Given the description of an element on the screen output the (x, y) to click on. 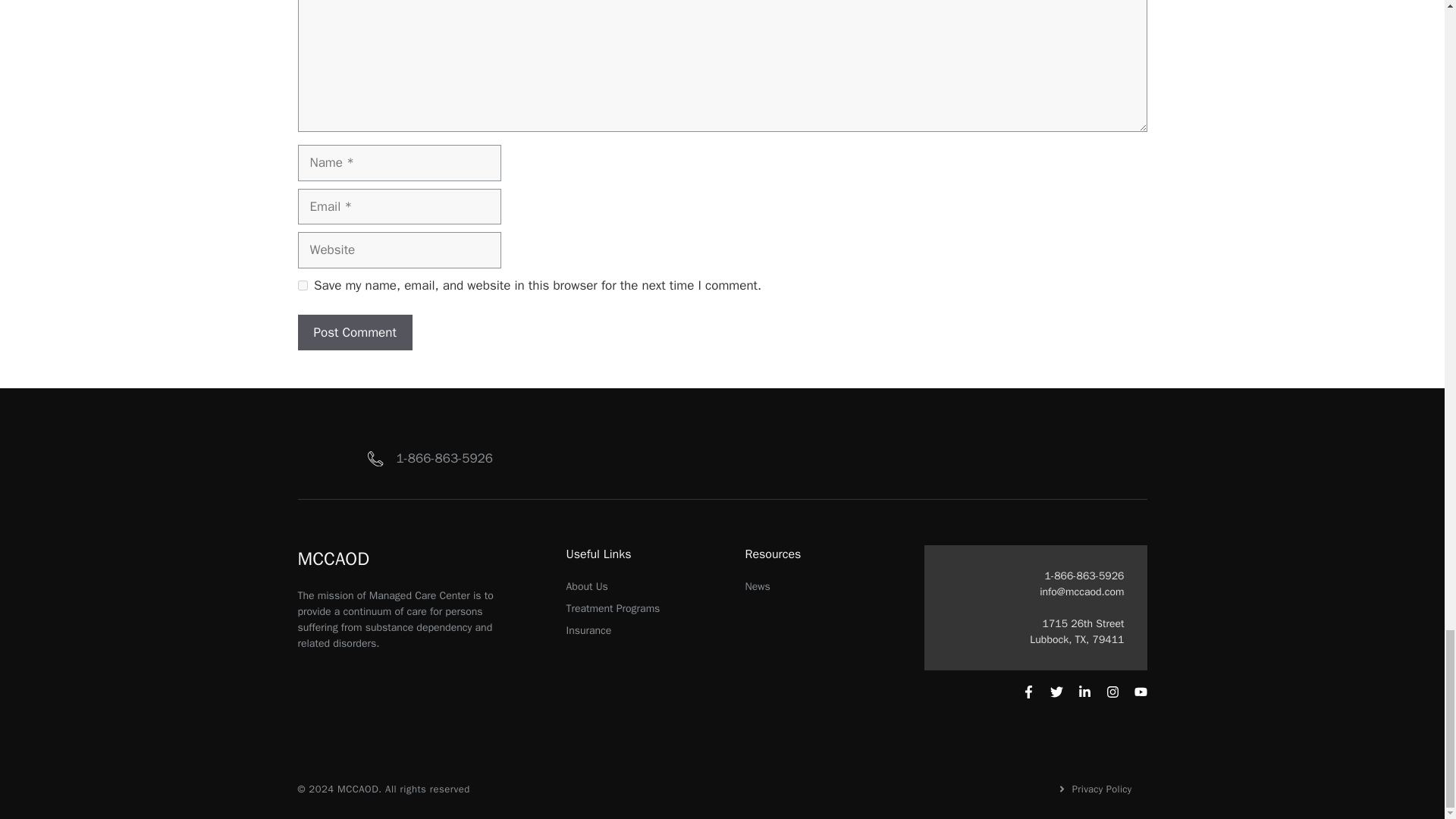
yes (302, 285)
Post Comment (354, 332)
